Given the description of an element on the screen output the (x, y) to click on. 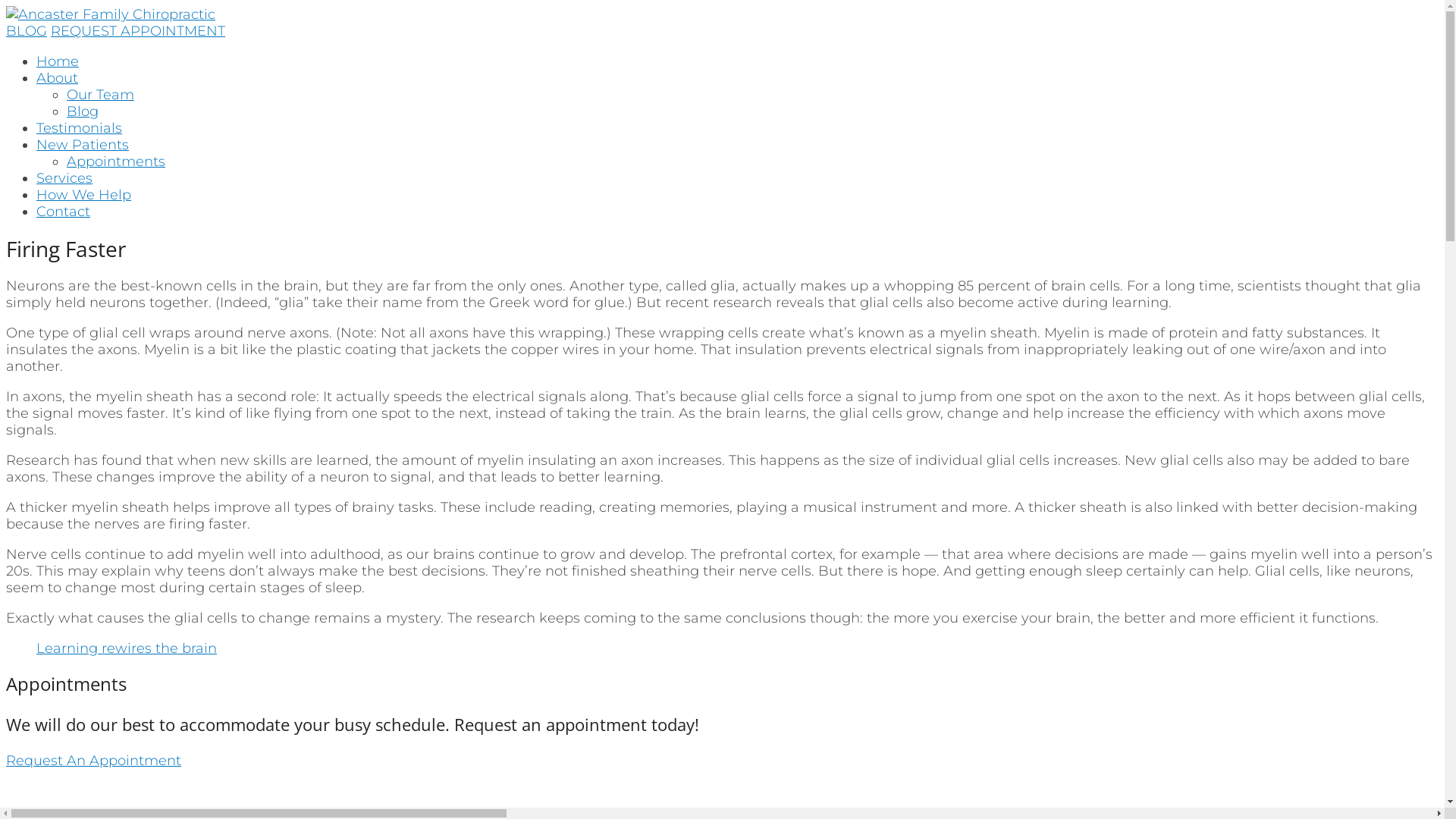
BLOG Element type: text (26, 30)
Services Element type: text (64, 177)
Appointments Element type: text (115, 161)
How We Help Element type: text (83, 194)
Request An Appointment Element type: text (93, 760)
Learning rewires the brain Element type: text (126, 648)
Blog Element type: text (82, 111)
Testimonials Element type: text (79, 127)
Our Team Element type: text (100, 94)
REQUEST APPOINTMENT Element type: text (137, 30)
About Element type: text (57, 77)
Contact Element type: text (63, 211)
Home Element type: text (57, 61)
New Patients Element type: text (82, 144)
